Given the description of an element on the screen output the (x, y) to click on. 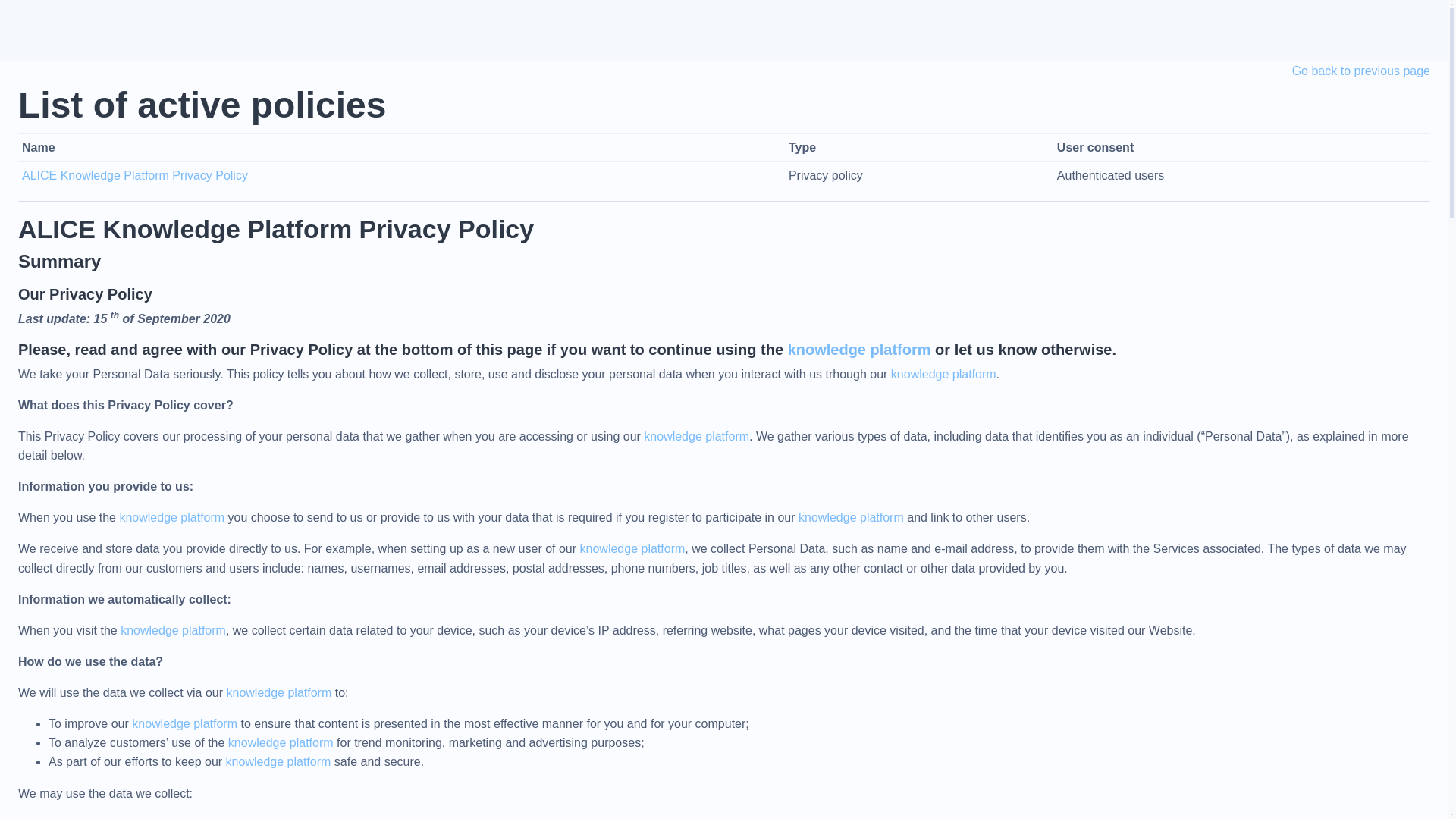
knowledge platform (850, 517)
knowledge platform (184, 723)
knowledge platform (696, 436)
Go back to previous page (1360, 70)
knowledge platform (171, 517)
knowledge platform (280, 742)
ALICE Knowledge Platform Privacy Policy (134, 174)
knowledge platform (943, 373)
ALICE Knowledge Platform Privacy Policy (275, 228)
knowledge platform (278, 692)
